Given the description of an element on the screen output the (x, y) to click on. 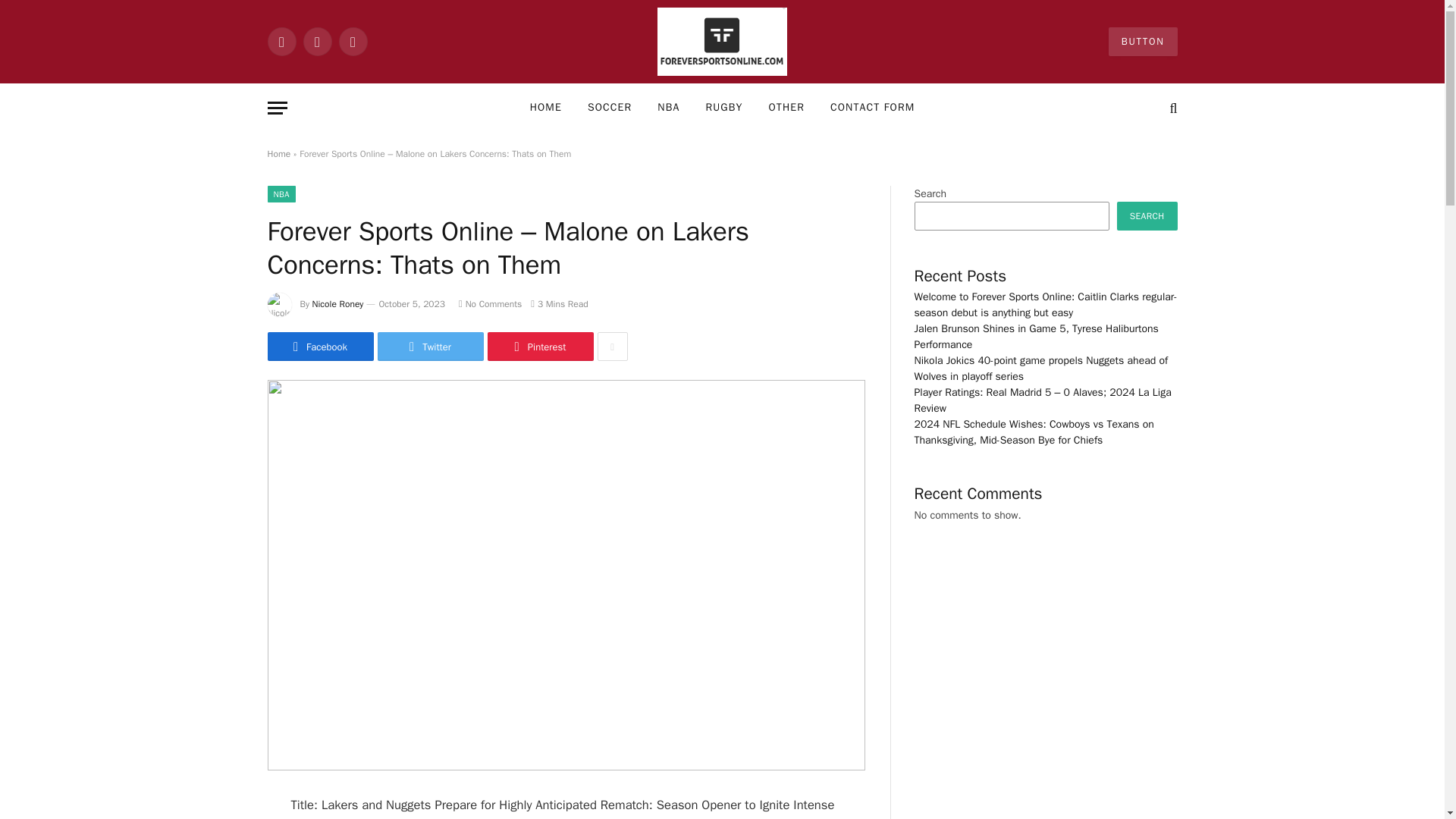
Twitter (430, 346)
Pinterest (539, 346)
No Comments (489, 304)
Instagram (351, 41)
Show More Social Sharing (611, 346)
foreversportsonline.com (722, 41)
Share on Facebook (319, 346)
HOME (545, 107)
OTHER (785, 107)
Home (277, 153)
Share on Pinterest (539, 346)
RUGBY (724, 107)
Facebook (280, 41)
CONTACT FORM (871, 107)
Posts by Nicole Roney (338, 304)
